Given the description of an element on the screen output the (x, y) to click on. 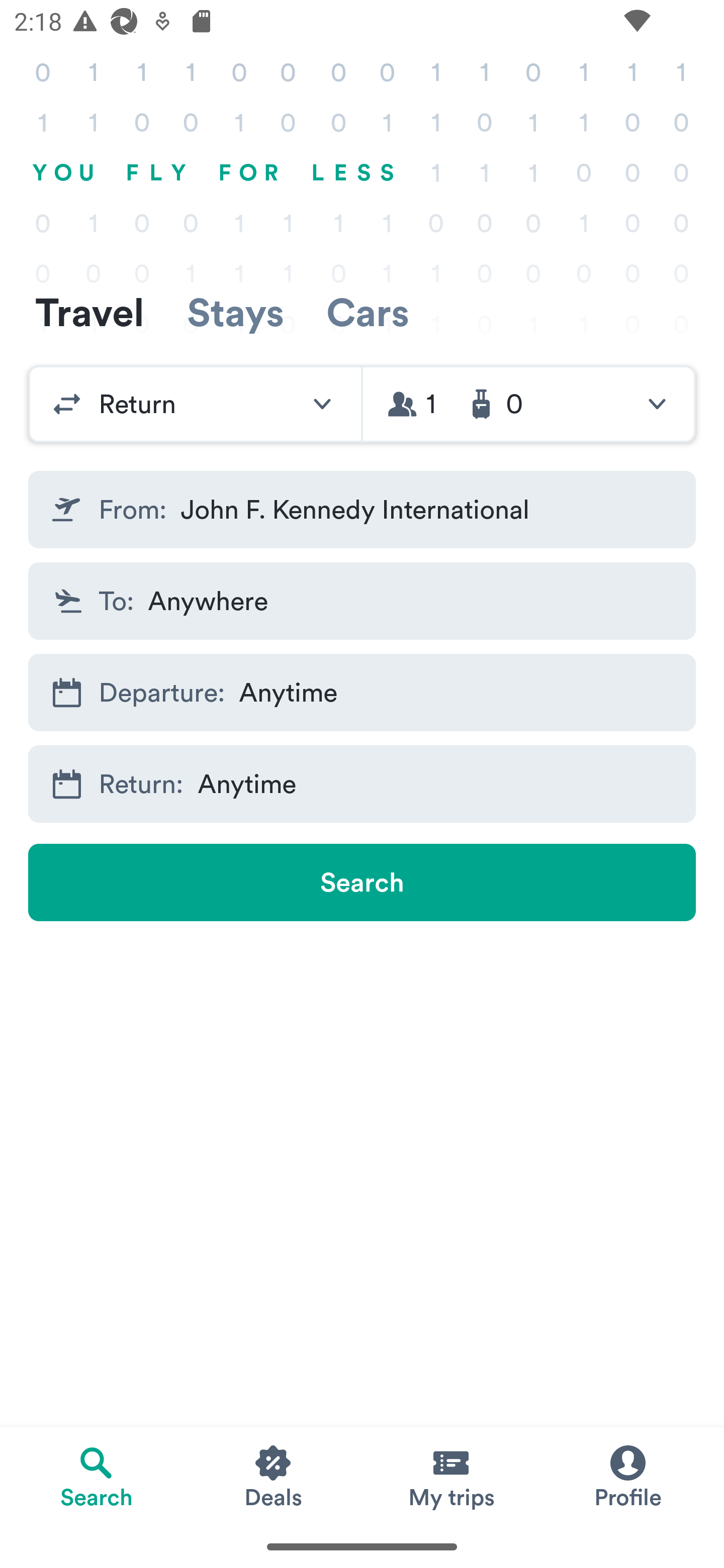
Travel (89, 311)
Stays (235, 311)
Cars (367, 311)
Return (194, 404)
Passengers 1 Bags 0 (528, 404)
From: John F. Kennedy International (361, 509)
To: Anywhere (361, 600)
Departure: Anytime (361, 692)
Return: Anytime (361, 783)
Search (361, 882)
Deals (273, 1475)
My trips (450, 1475)
Profile (627, 1475)
